Given the description of an element on the screen output the (x, y) to click on. 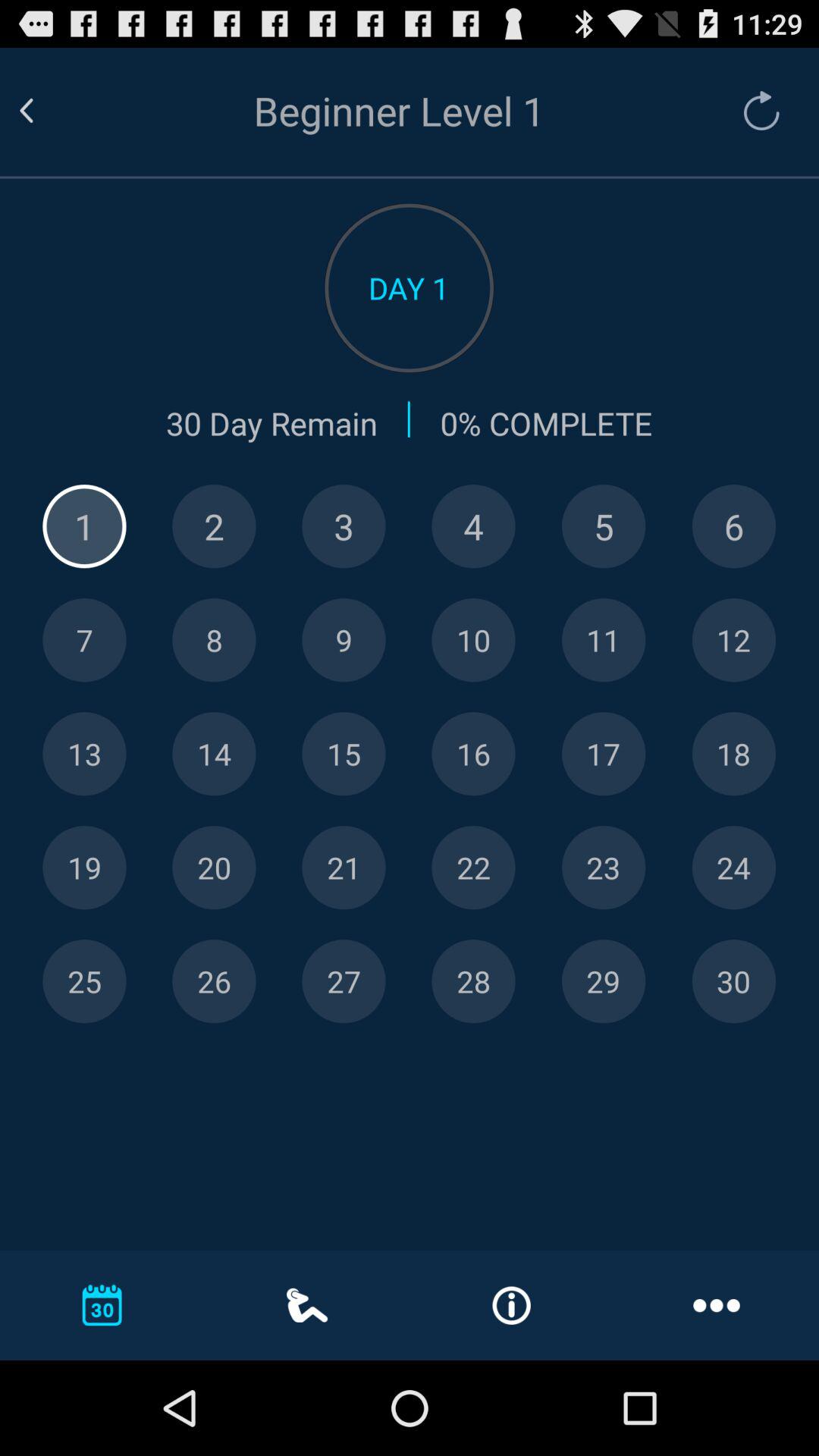
select day twenty-six (213, 981)
